Given the description of an element on the screen output the (x, y) to click on. 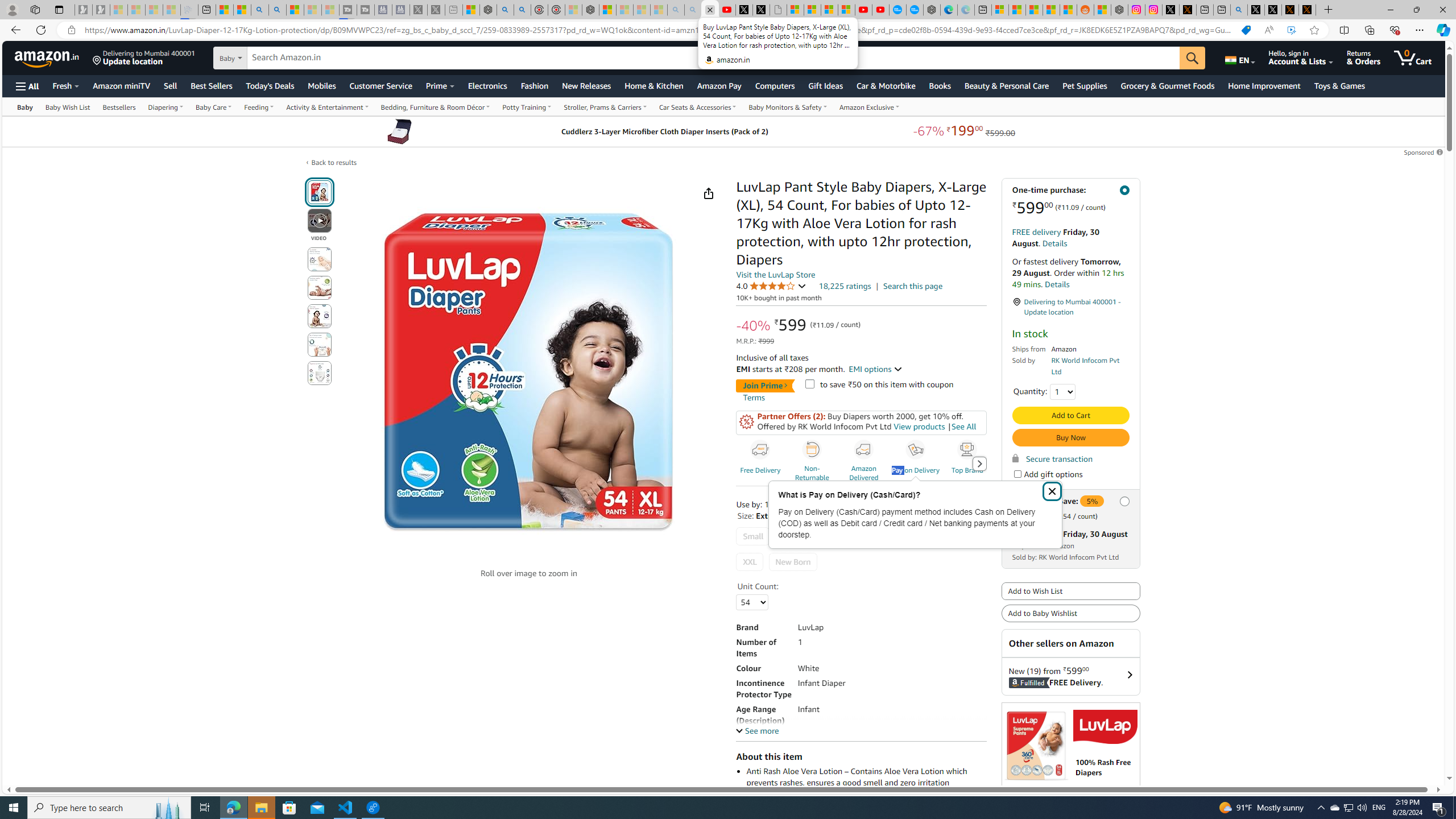
Streaming Coverage | T3 - Sleeping (347, 9)
Untitled (778, 9)
Shanghai, China Weather trends | Microsoft Weather (1068, 9)
X - Sleeping (435, 9)
New tab - Sleeping (453, 9)
Search (277, 9)
Nordace - Nordace has arrived Hong Kong (931, 9)
X Privacy Policy (1307, 9)
You have the best price! Shopping in Microsoft Edge (1245, 29)
YouTube Kids - An App Created for Kids to Explore Content (880, 9)
